Given the description of an element on the screen output the (x, y) to click on. 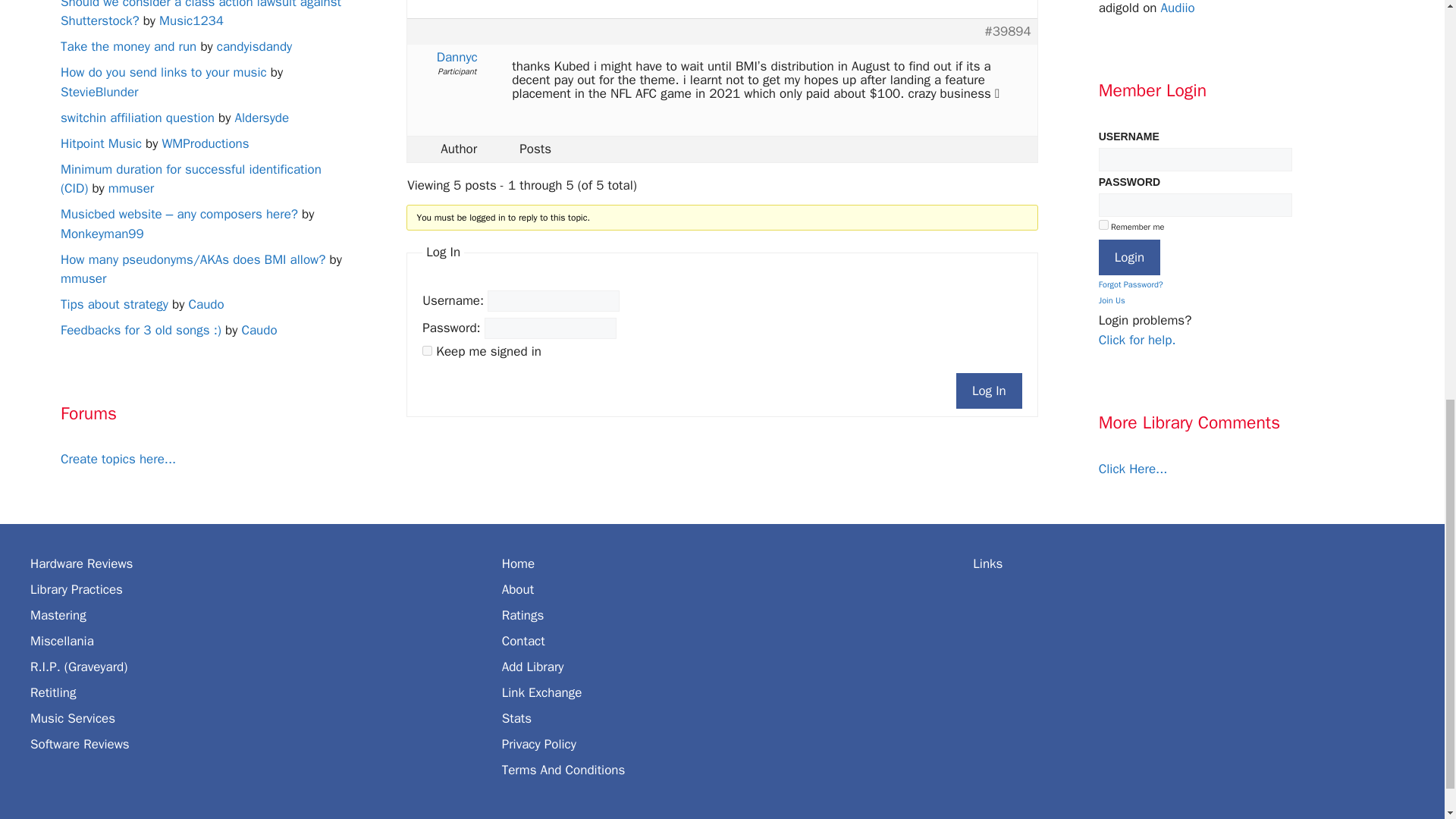
View Dannyc's profile (456, 57)
Login (1129, 257)
forever (427, 350)
forever (1103, 225)
